Given the description of an element on the screen output the (x, y) to click on. 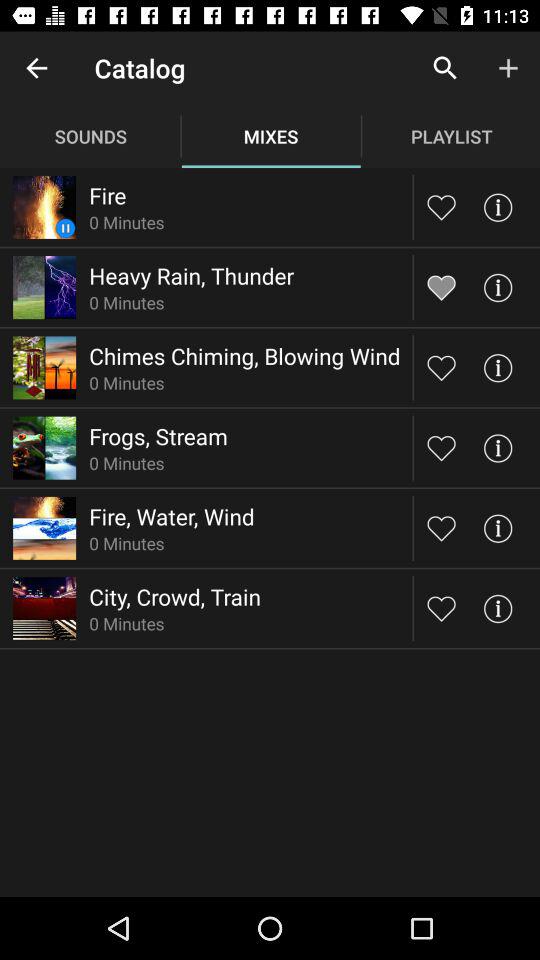
love music mix (441, 608)
